Given the description of an element on the screen output the (x, y) to click on. 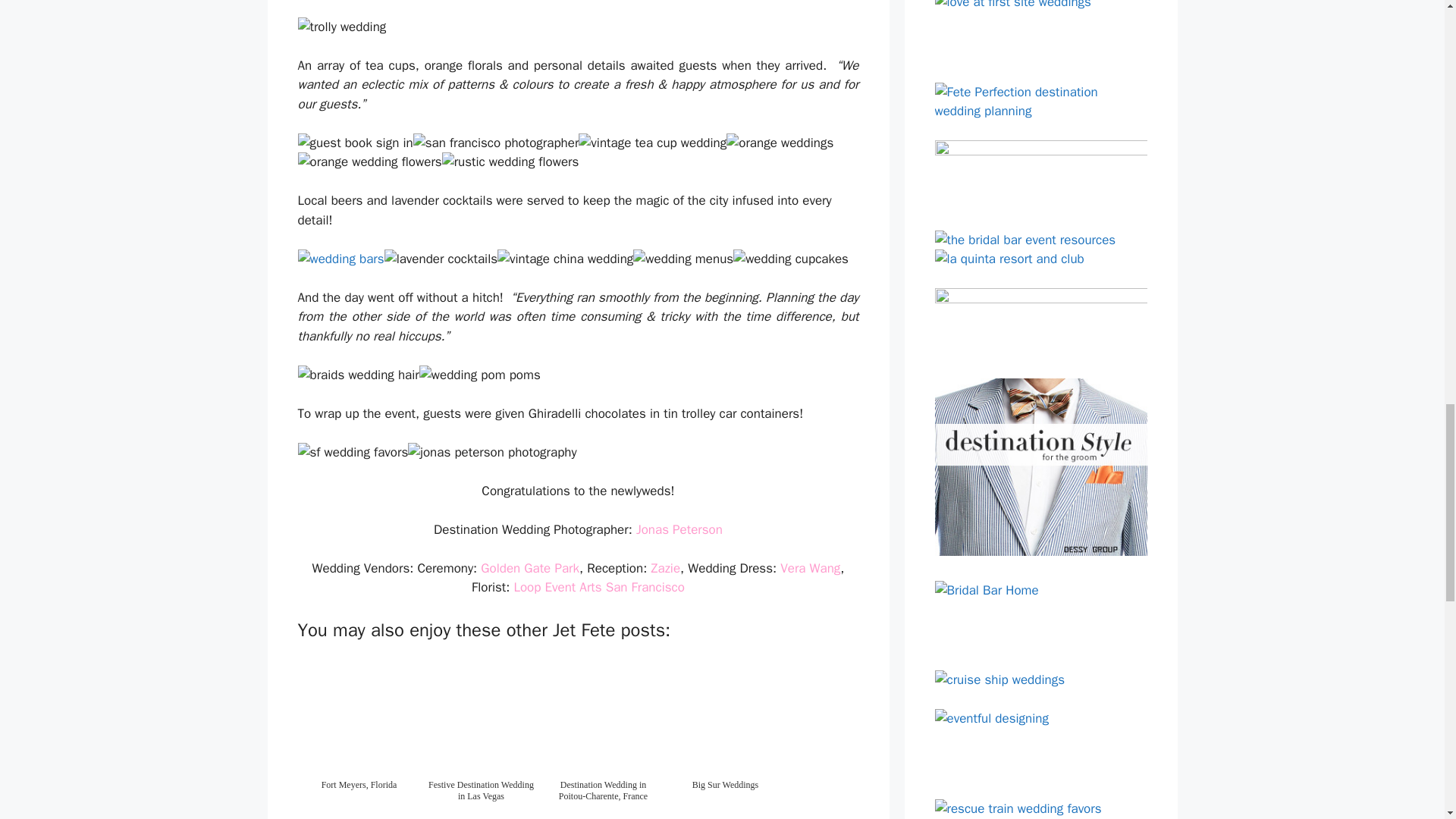
Loop Event Arts San Francisco (598, 587)
Zazie (664, 568)
Jonas Peterson (679, 529)
Vera Wang (810, 568)
Golden Gate Park (529, 568)
